Given the description of an element on the screen output the (x, y) to click on. 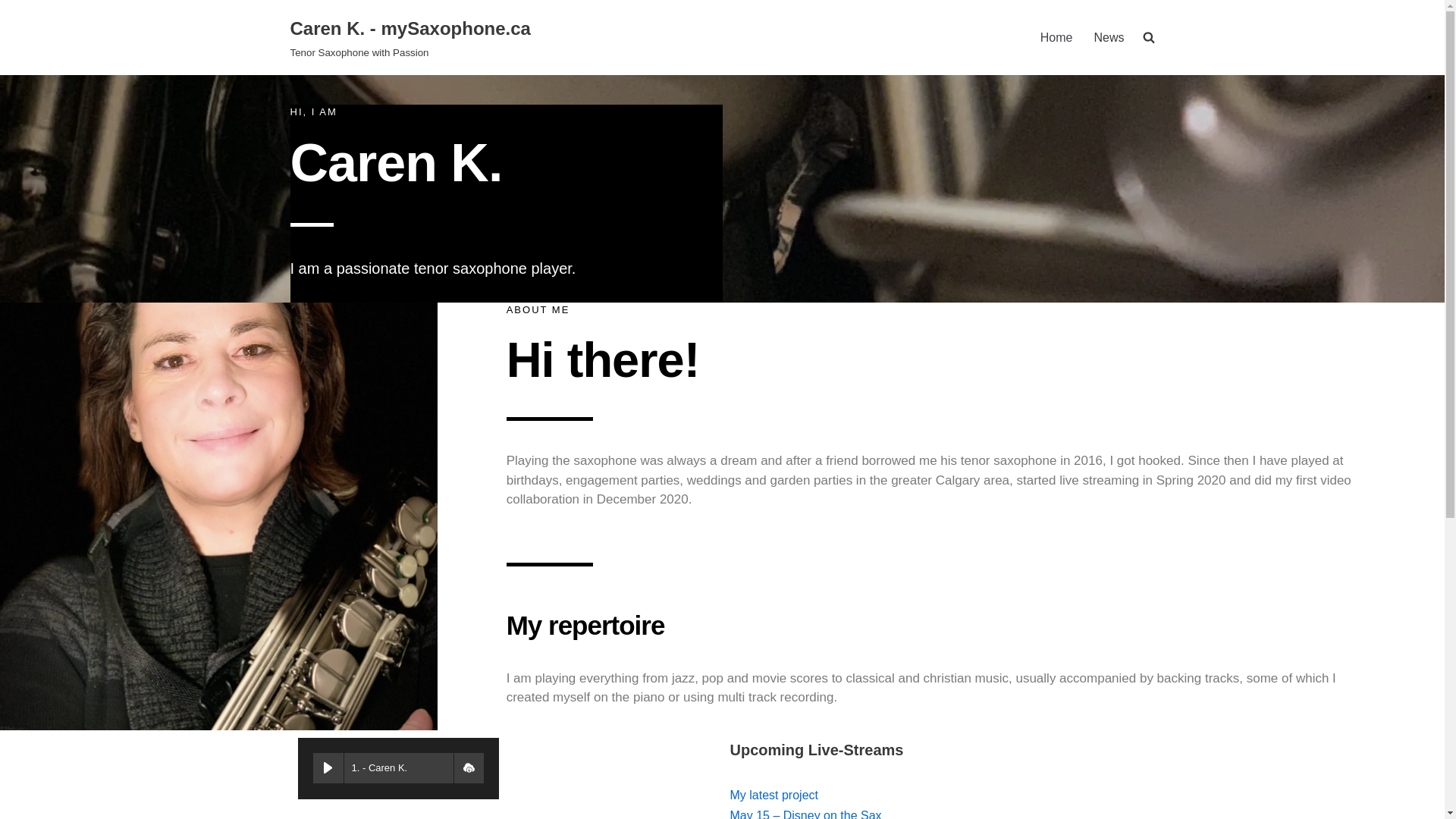
News (409, 37)
Download this track (1108, 37)
Home (467, 767)
My latest project (1057, 37)
Skip to content (772, 794)
